Given the description of an element on the screen output the (x, y) to click on. 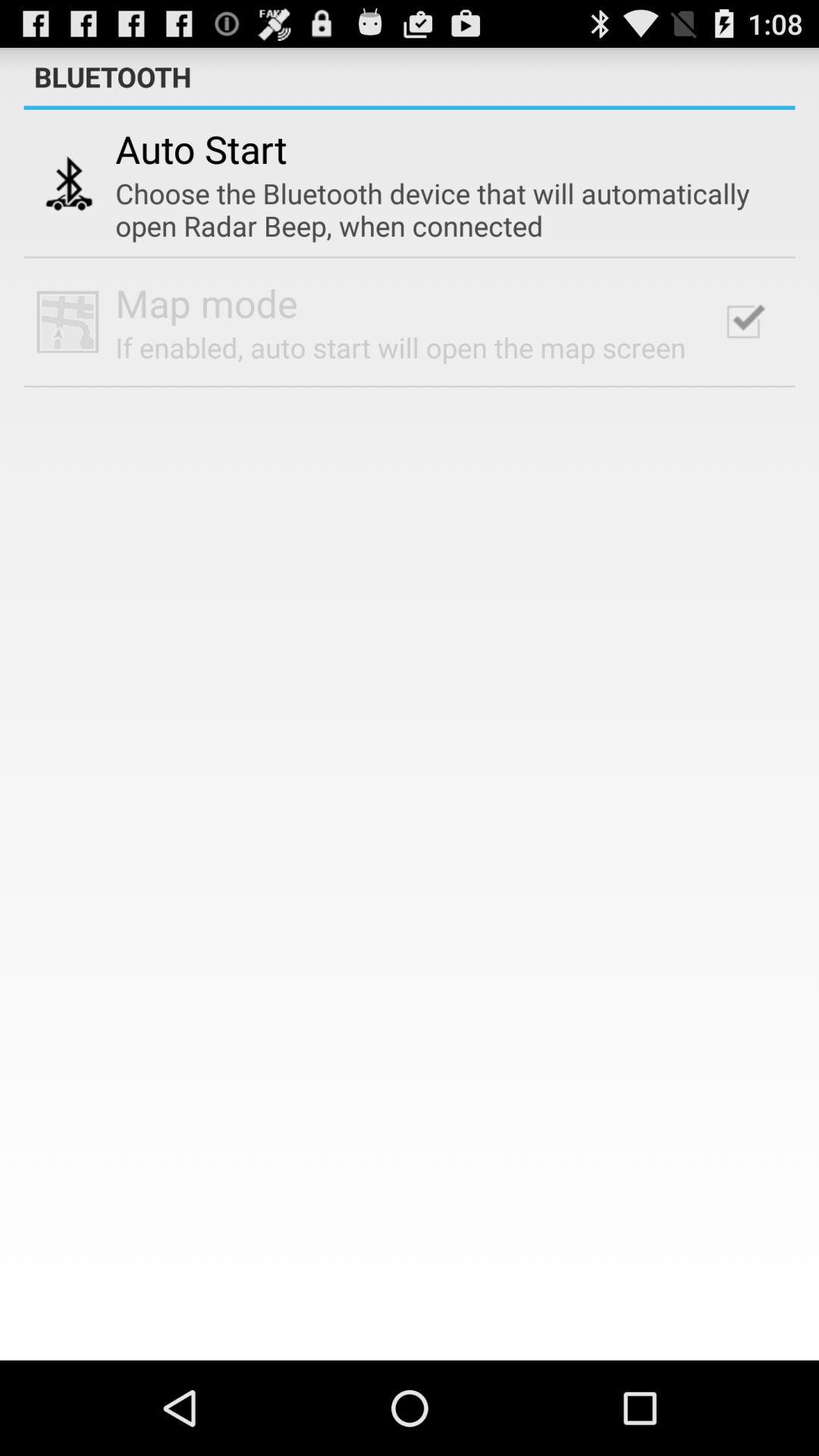
tap icon to the right of if enabled auto (743, 321)
